Given the description of an element on the screen output the (x, y) to click on. 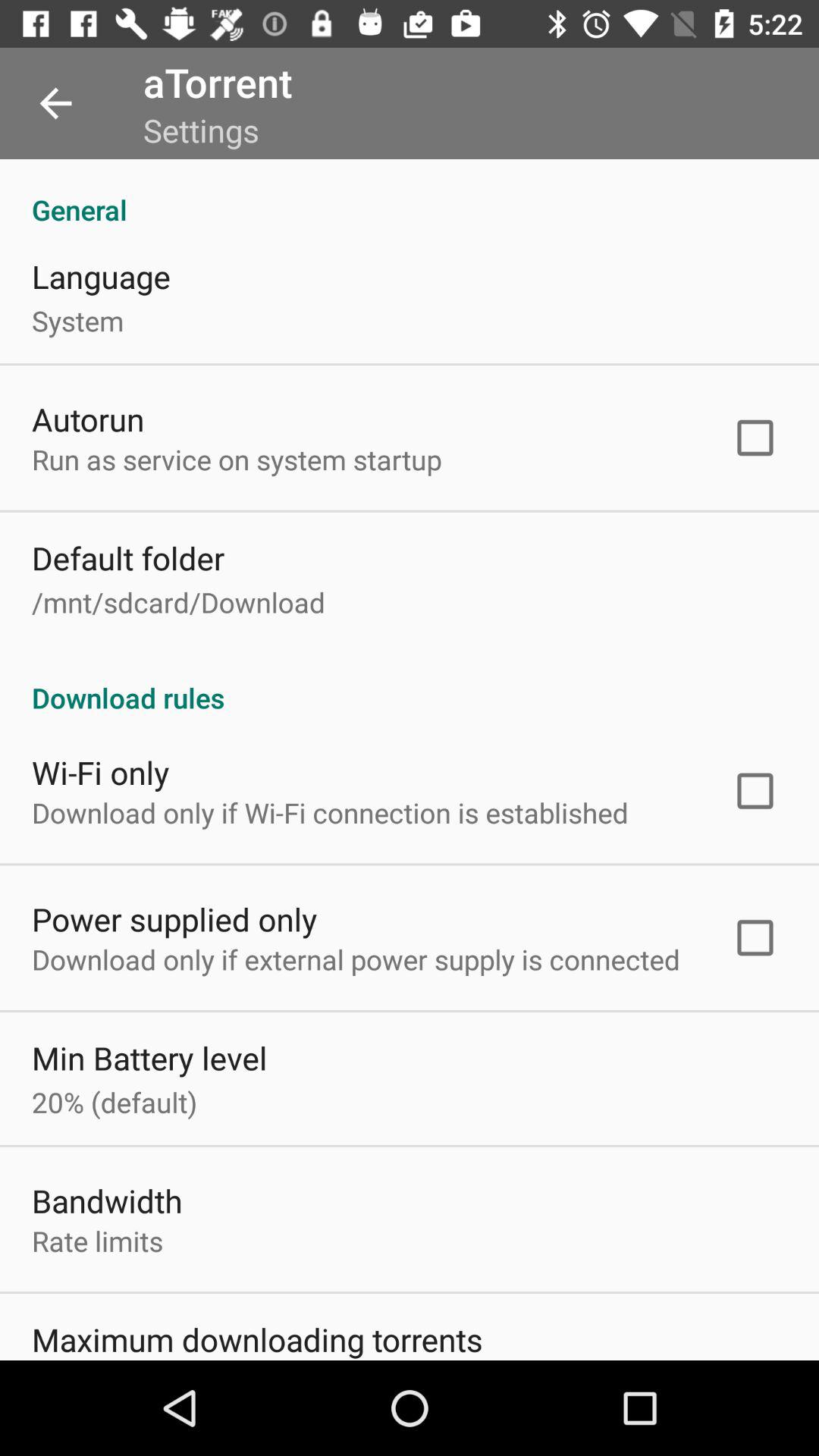
turn off the icon above 20% (default) icon (149, 1057)
